Given the description of an element on the screen output the (x, y) to click on. 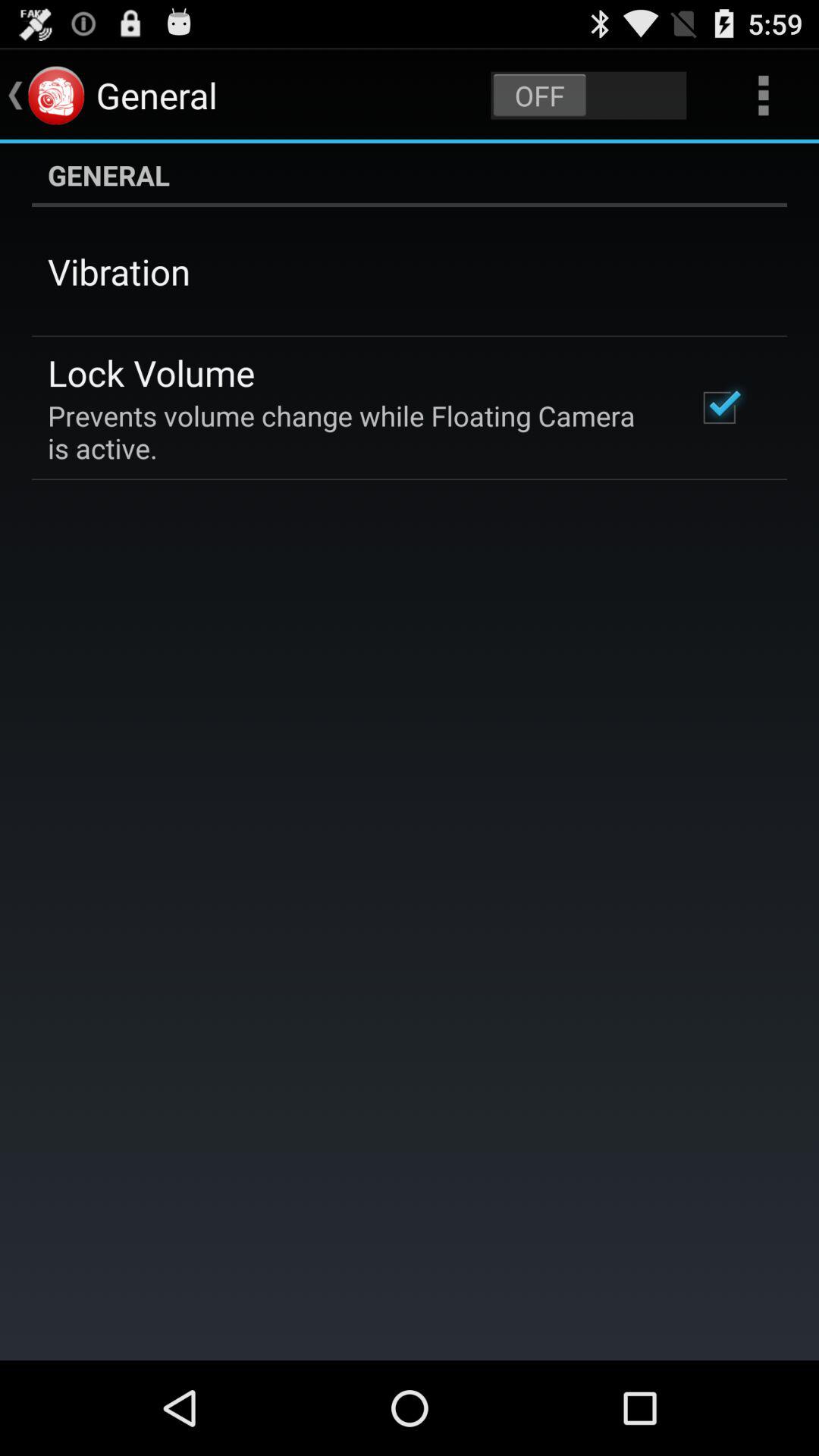
open the item below general (719, 407)
